Given the description of an element on the screen output the (x, y) to click on. 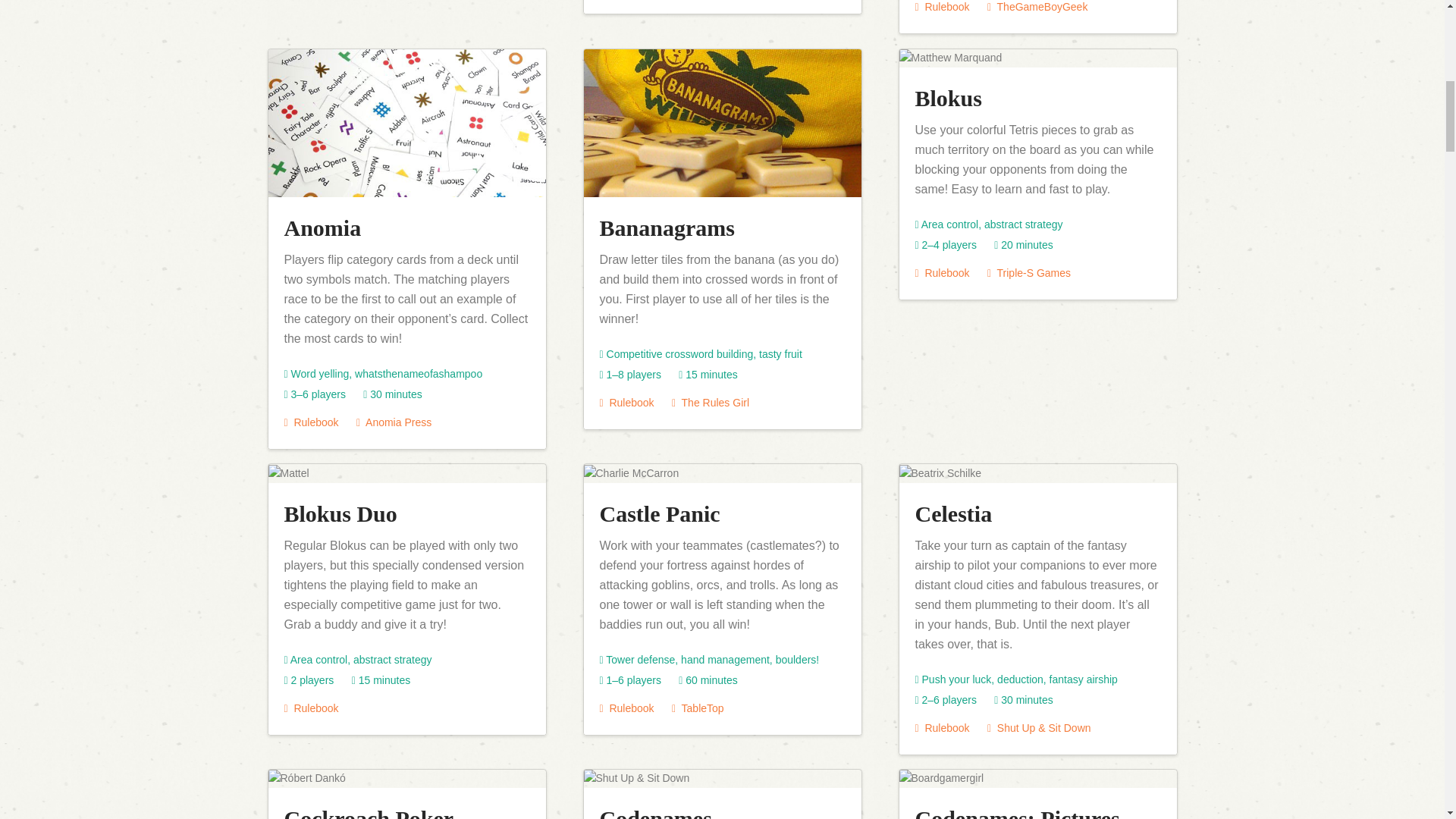
Bananagrams (665, 227)
  Rulebook (941, 727)
Blokus Duo (339, 513)
  TableTop (697, 707)
  TheGameBoyGeek (1037, 6)
Castle Panic (658, 513)
Codenames: Pictures (1016, 812)
  Rulebook (941, 6)
  Rulebook (625, 402)
  Rulebook (625, 707)
